Given the description of an element on the screen output the (x, y) to click on. 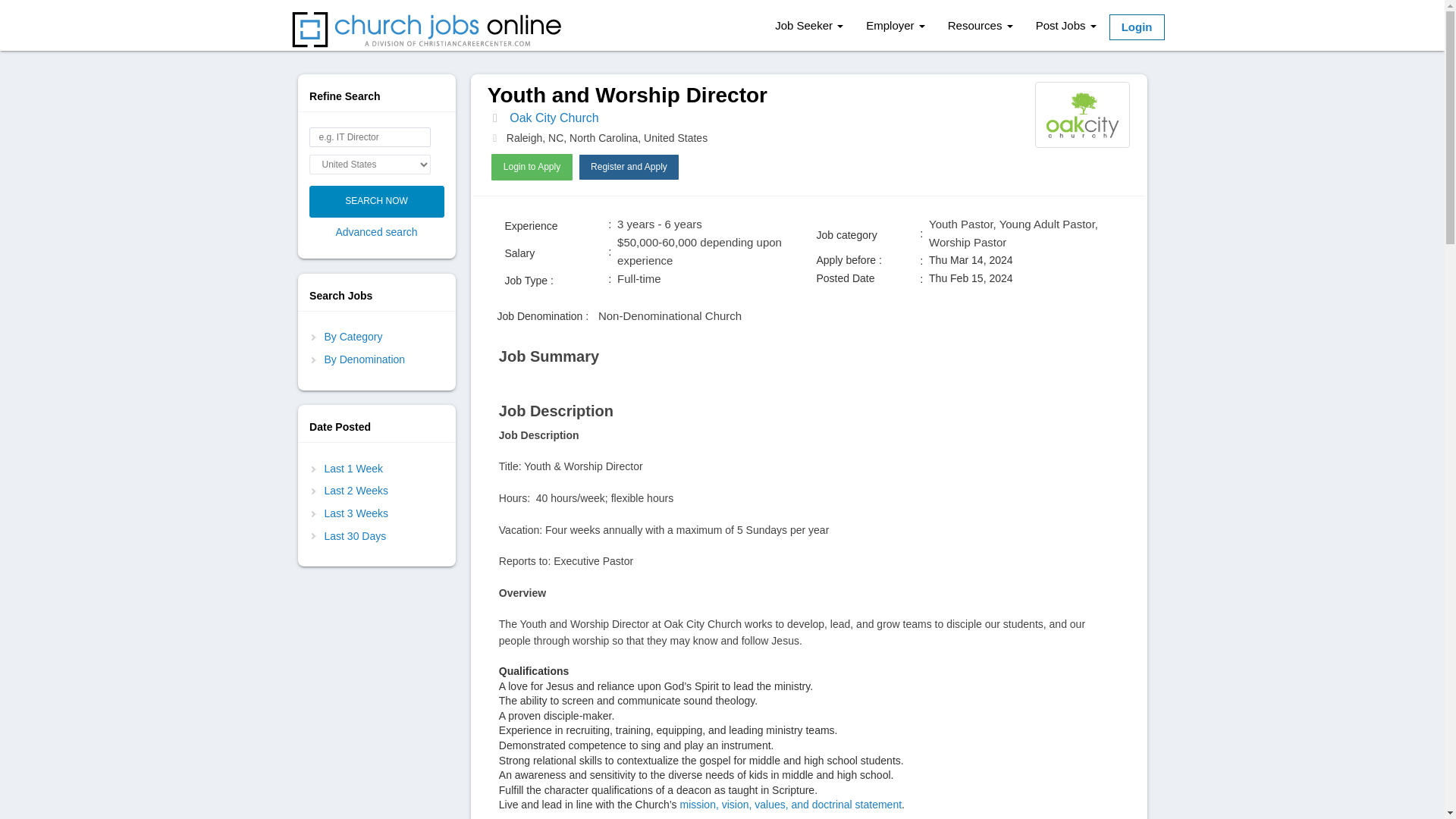
Last 2 Weeks (348, 490)
mission, vision, values, and doctrinal statement (790, 804)
By Category (345, 336)
Login (1136, 26)
Last 3 Weeks (348, 513)
Oak City Church (553, 117)
Job Seeker (808, 25)
Register and Apply (628, 167)
Last 3 Weeks (348, 513)
Advanced search (375, 232)
By Denomination (357, 359)
View company profile (553, 117)
search now (376, 201)
Login to Apply (532, 166)
Last 30 Days (347, 536)
